Given the description of an element on the screen output the (x, y) to click on. 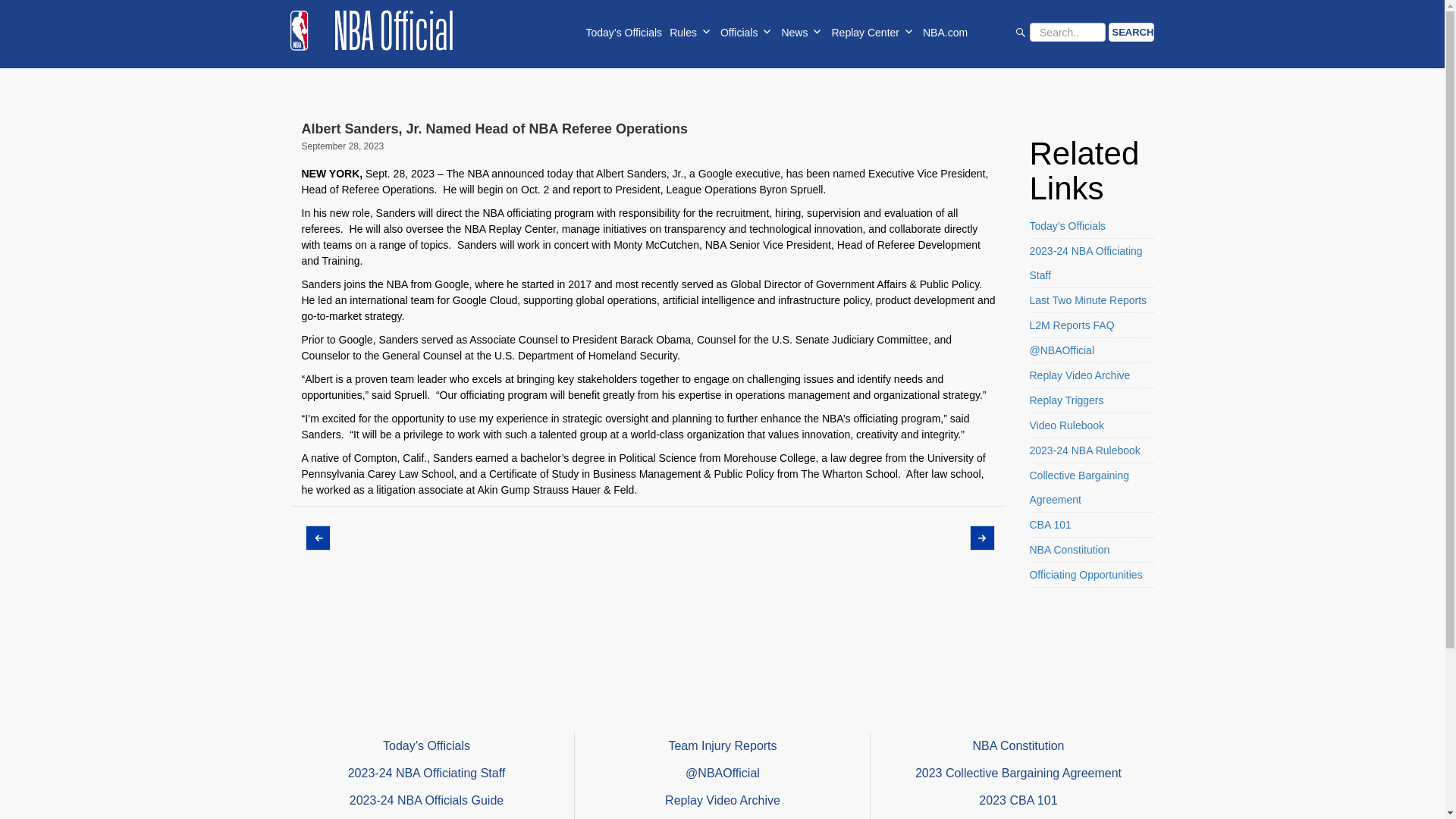
Video Rulebook (1091, 425)
SEARCH (1131, 31)
EDUCATIONAL VIDEO: FLOPPING  (315, 537)
L2M Reports FAQ (1091, 325)
2023-24 NBA Rulebook (1091, 450)
2023-24 NBA Officiating Staff (1091, 263)
Replay Center (873, 32)
Replay Video Archive (1091, 375)
Last Two Minute Reports (1091, 300)
Replay Triggers (1091, 400)
NBA Official (370, 29)
